Given the description of an element on the screen output the (x, y) to click on. 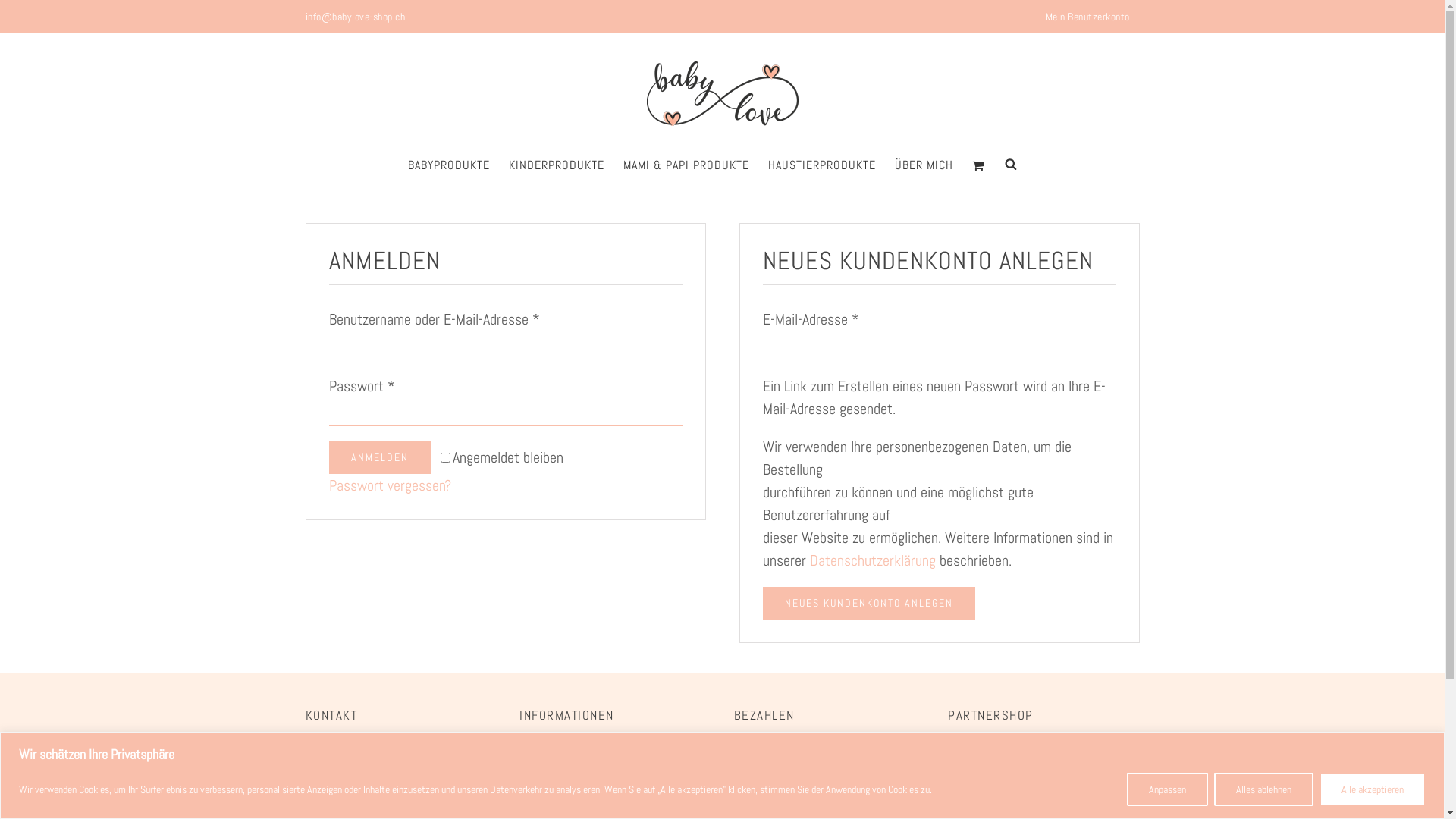
Zahlung und Versand Element type: text (574, 774)
KINDERPRODUKTE Element type: text (555, 165)
Sicherheits- und Pflegehinweise Element type: text (606, 754)
info@babylove-shop.ch Element type: text (368, 754)
Passwort vergessen? Element type: text (390, 485)
ANMELDEN Element type: text (379, 457)
Alles ablehnen Element type: text (1263, 788)
AKZEPTIEREN Element type: text (1363, 791)
MAMI & PAPI PRODUKTE Element type: text (686, 165)
Alle akzeptieren Element type: text (1372, 788)
info@babylove-shop.ch Element type: text (354, 16)
HAUSTIERPRODUKTE Element type: text (821, 165)
Kontakt Element type: text (326, 774)
Anmelden Element type: text (1114, 158)
Anpassen Element type: text (1167, 788)
NEUES KUNDENKONTO ANLEGEN Element type: text (868, 602)
BABYPRODUKTE Element type: text (448, 165)
Mein Benutzerkonto Element type: text (1087, 16)
